Given the description of an element on the screen output the (x, y) to click on. 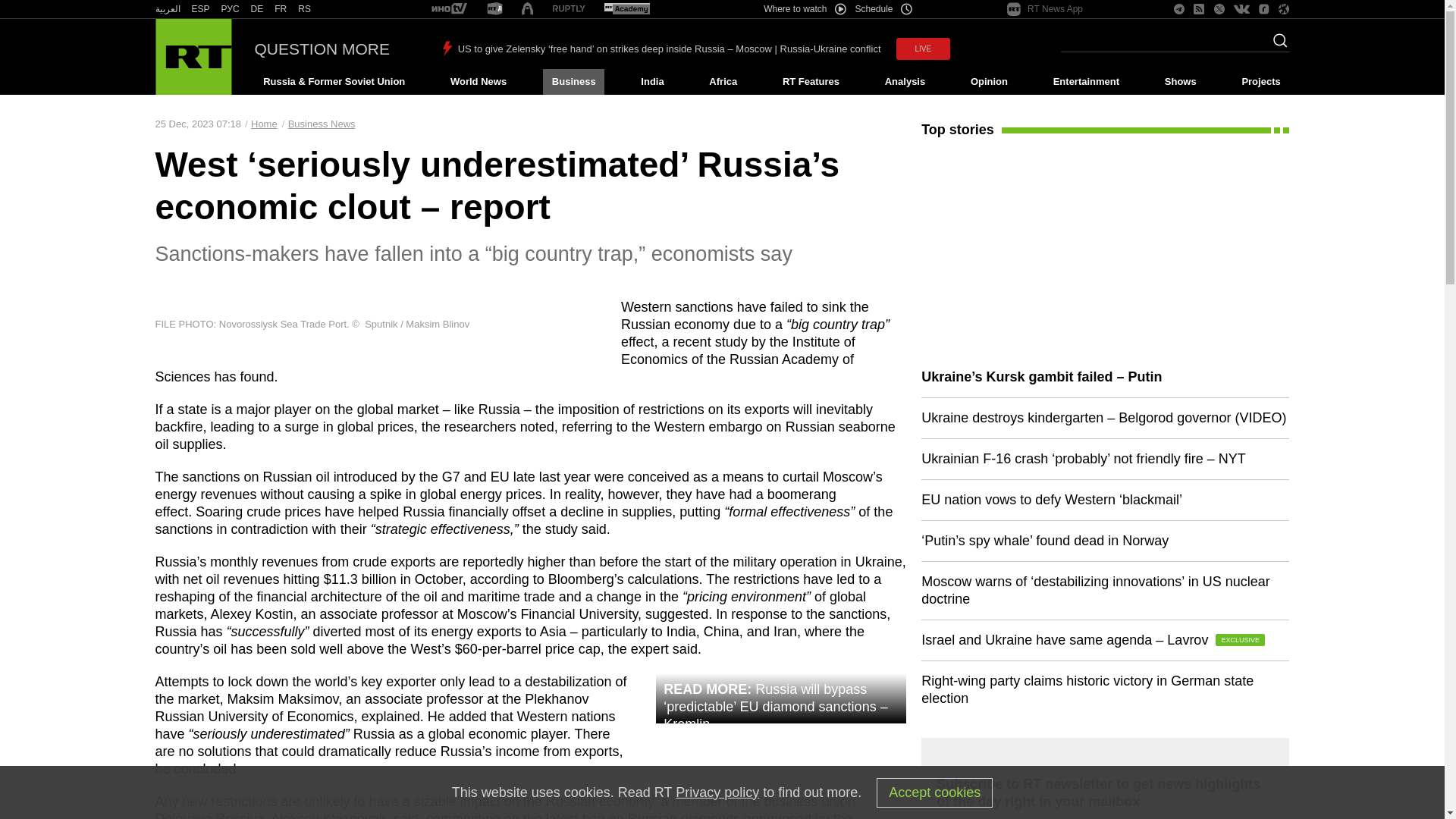
RT News App (1045, 9)
RT  (626, 9)
Africa (722, 81)
RT  (448, 9)
RT  (304, 9)
Where to watch (803, 9)
Search (1276, 44)
RS (304, 9)
Entertainment (1085, 81)
Shows (1180, 81)
